Given the description of an element on the screen output the (x, y) to click on. 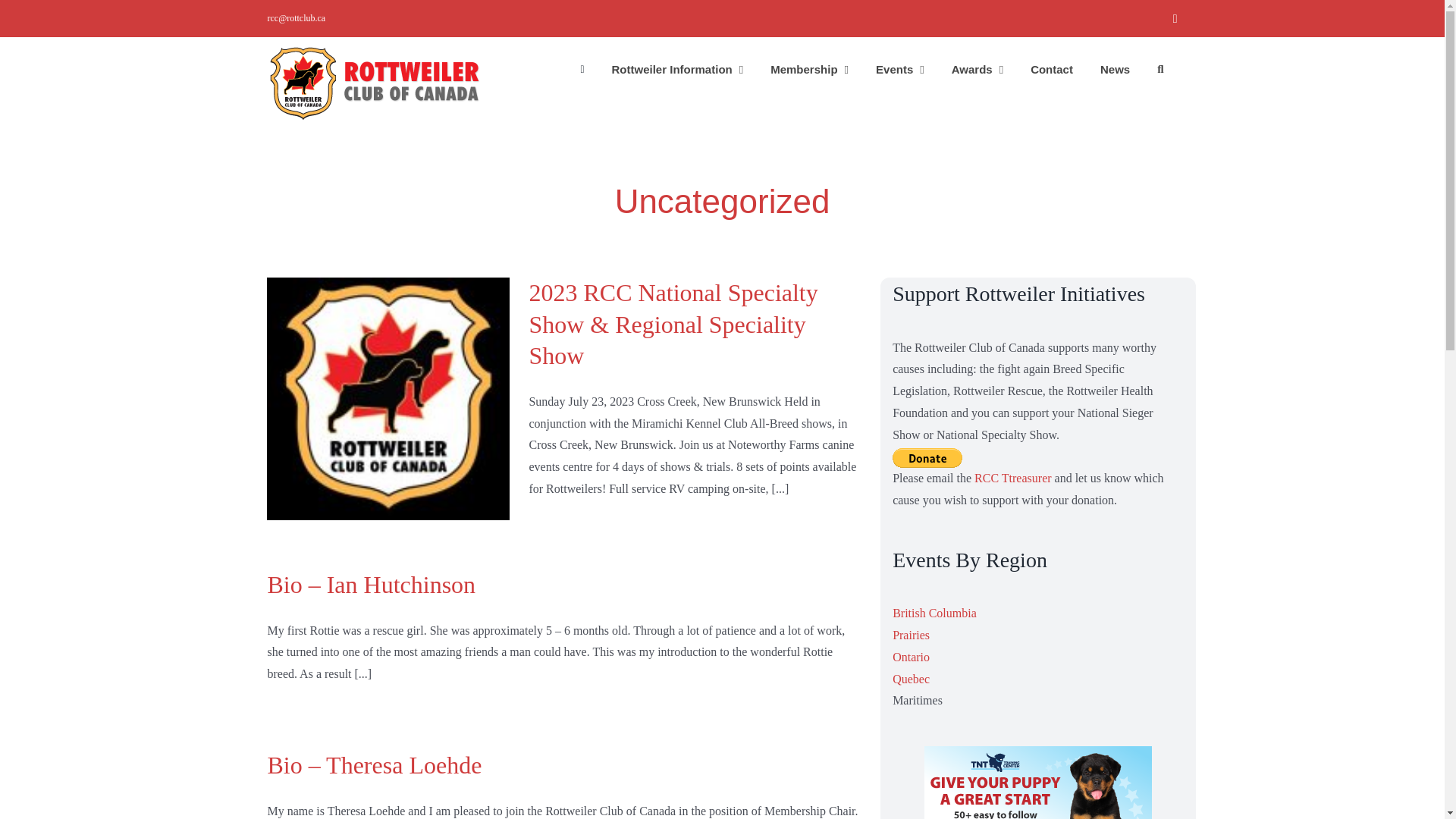
Events (899, 68)
Membership (809, 68)
Rottweiler Information (677, 68)
